Given the description of an element on the screen output the (x, y) to click on. 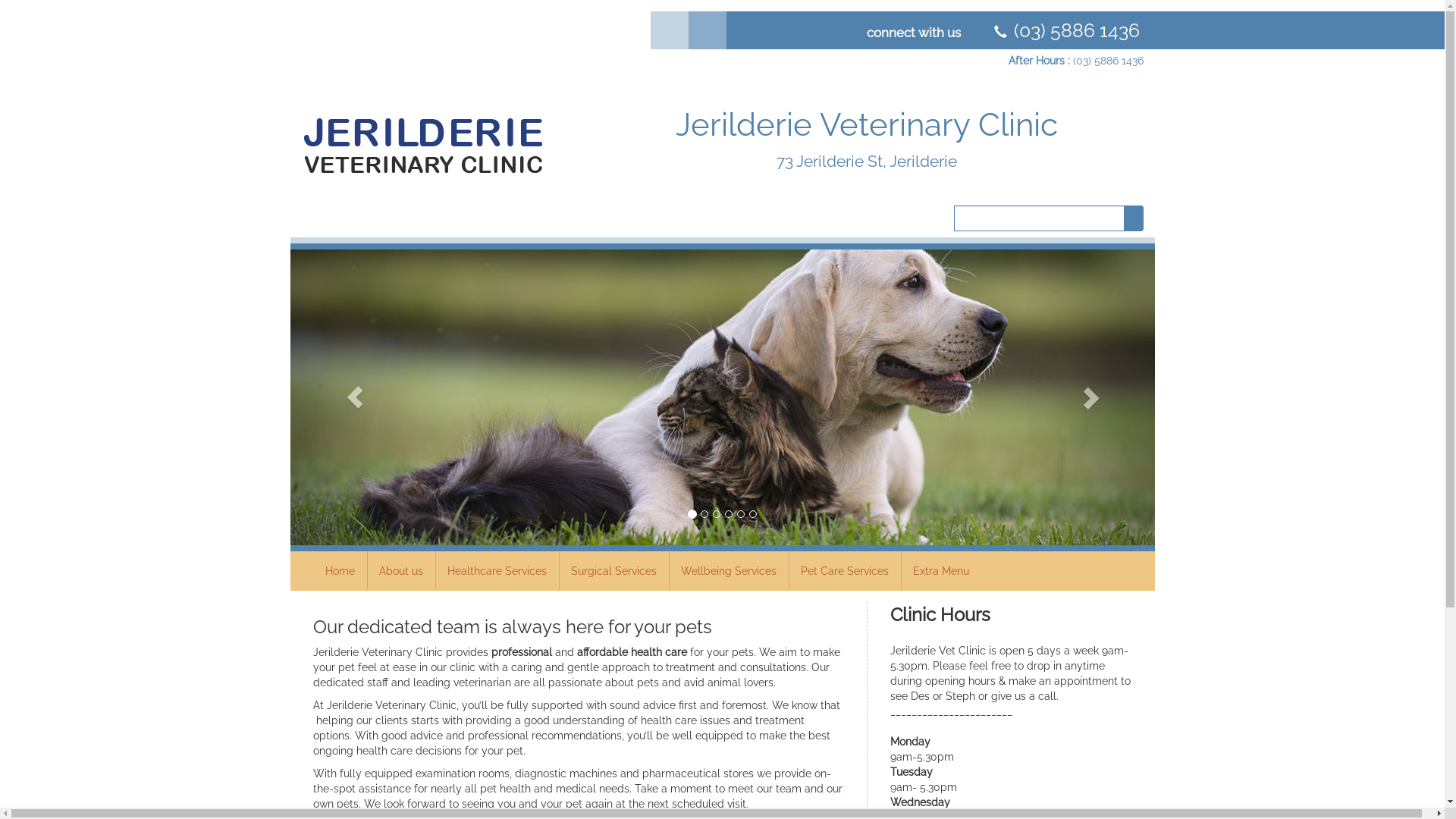
Home Element type: text (340, 570)
(03) 5886 1436 Element type: text (1076, 29)
(03) 5886 1436 Element type: text (1107, 60)
Wellbeing Services Element type: text (728, 570)
Surgical Services Element type: text (613, 570)
About us Element type: text (401, 570)
Healthcare Services Element type: text (496, 570)
Extra Menu Element type: text (940, 570)
Pet Care Services Element type: text (844, 570)
